Given the description of an element on the screen output the (x, y) to click on. 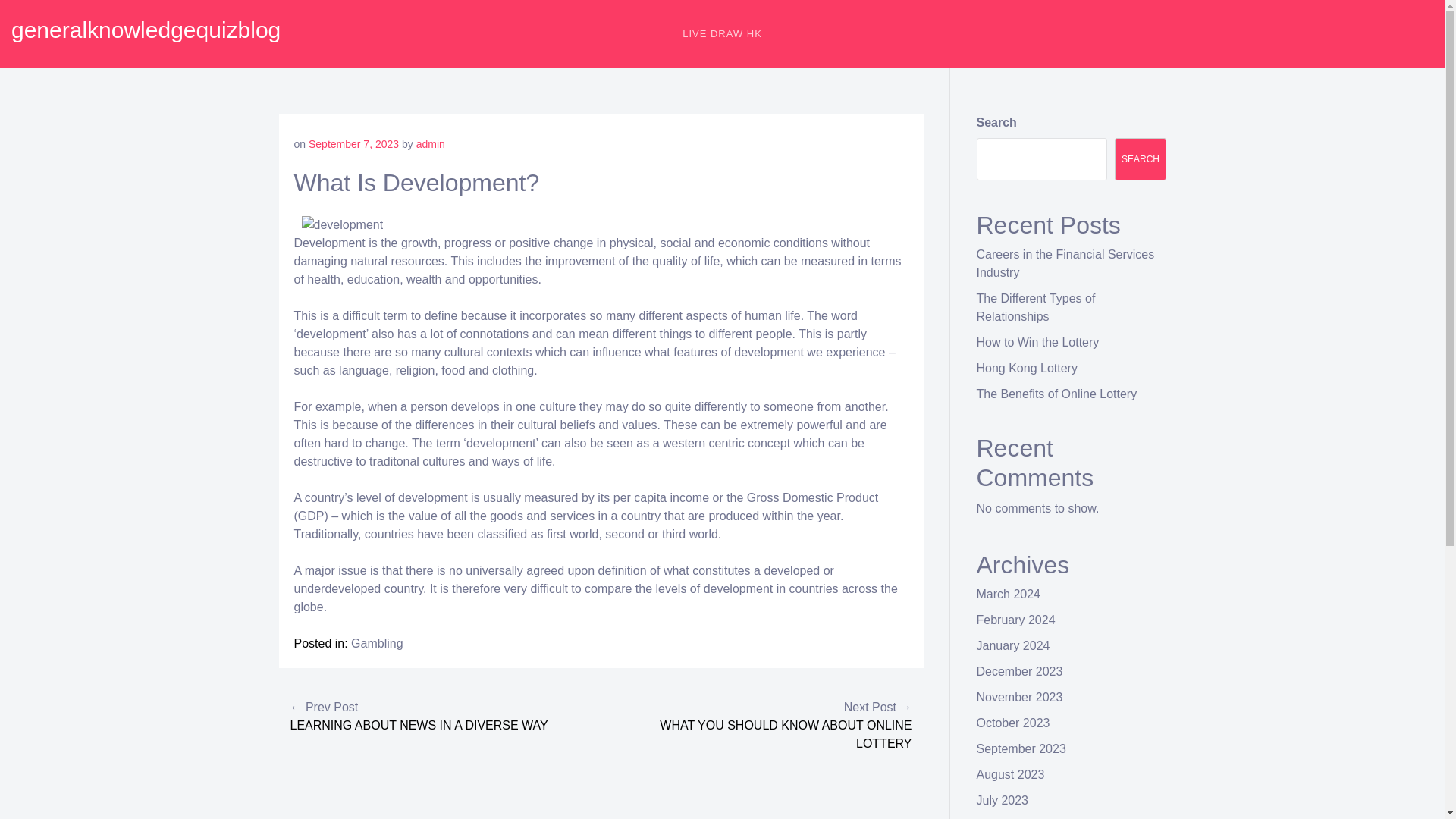
September 7, 2023 (353, 143)
generalknowledgequizblog (146, 29)
Careers in the Financial Services Industry (1065, 263)
SEARCH (1140, 159)
February 2024 (1015, 619)
Gambling (376, 643)
December 2023 (1019, 671)
October 2023 (1012, 722)
July 2023 (1002, 799)
March 2024 (1008, 594)
